Given the description of an element on the screen output the (x, y) to click on. 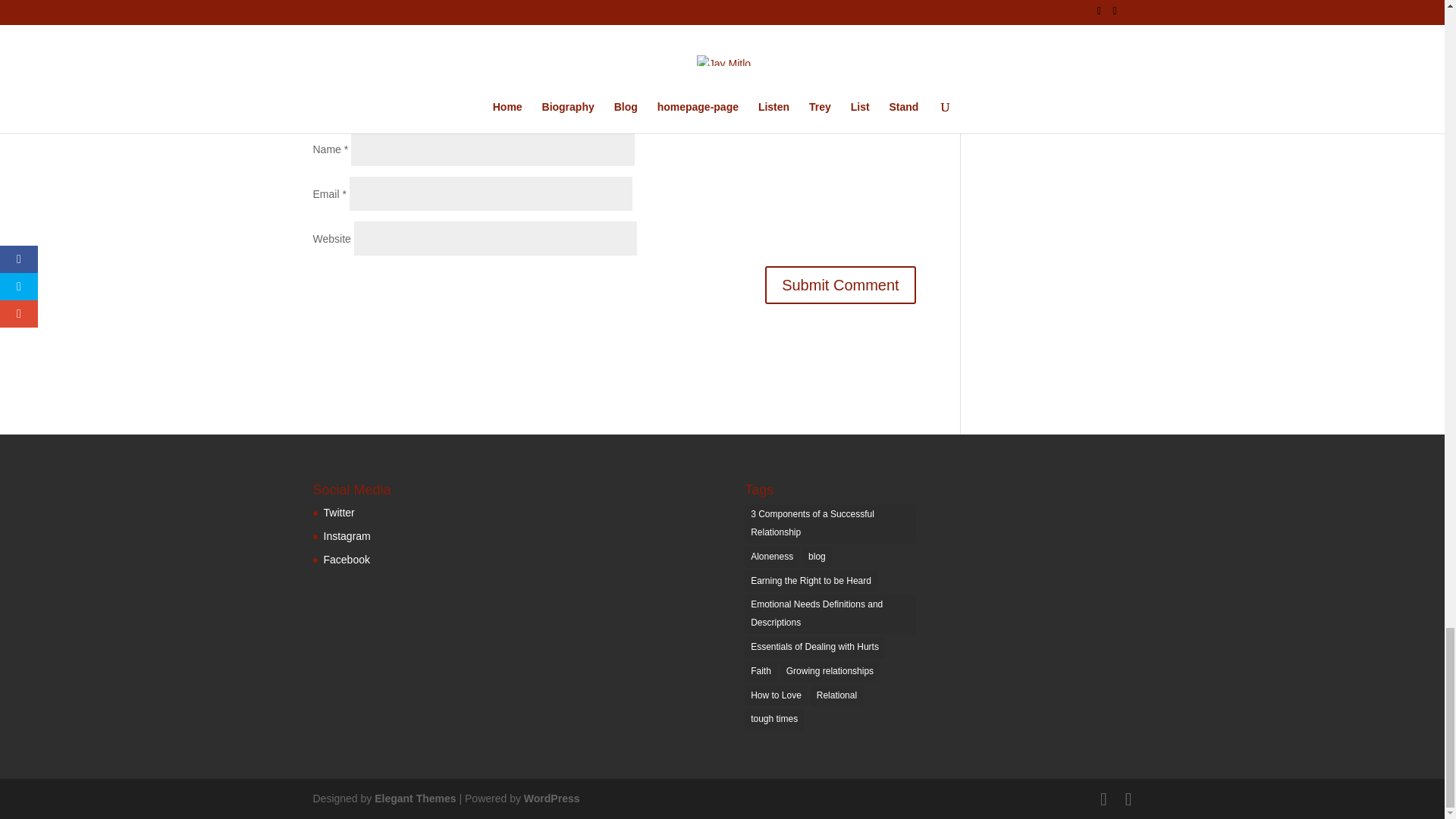
Emotional Needs Definitions and Descriptions (829, 613)
Relational (836, 695)
Elegant Themes (414, 798)
Submit Comment (840, 284)
Growing relationships (829, 671)
3 Components of a Successful Relationship (829, 523)
WordPress (551, 798)
Essentials of Dealing with Hurts (814, 647)
blog (816, 557)
Faith (760, 671)
